Given the description of an element on the screen output the (x, y) to click on. 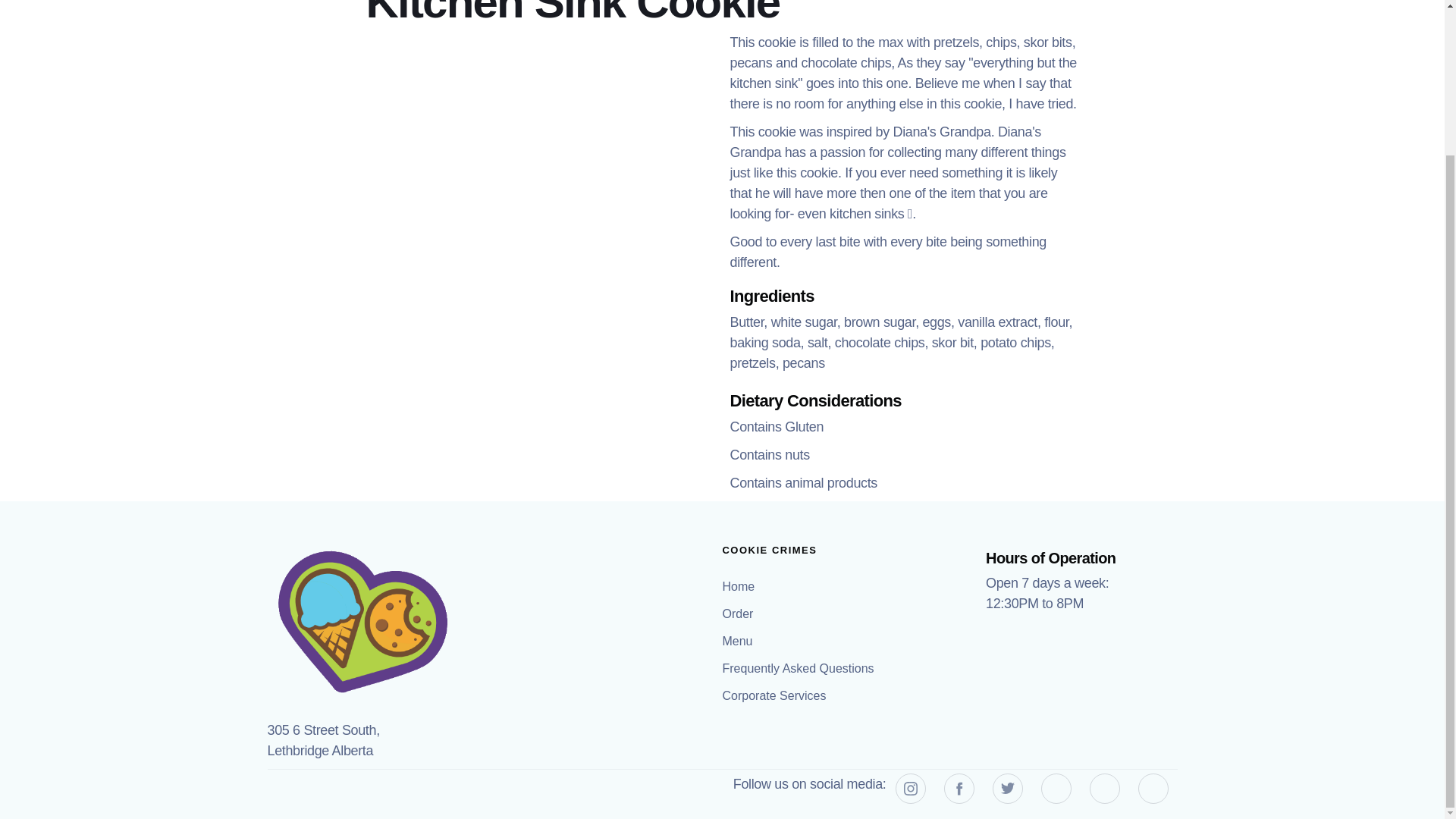
Order (739, 614)
Frequently Asked Questions (799, 668)
Corporate Services (775, 696)
Home (740, 586)
Menu (739, 641)
